Given the description of an element on the screen output the (x, y) to click on. 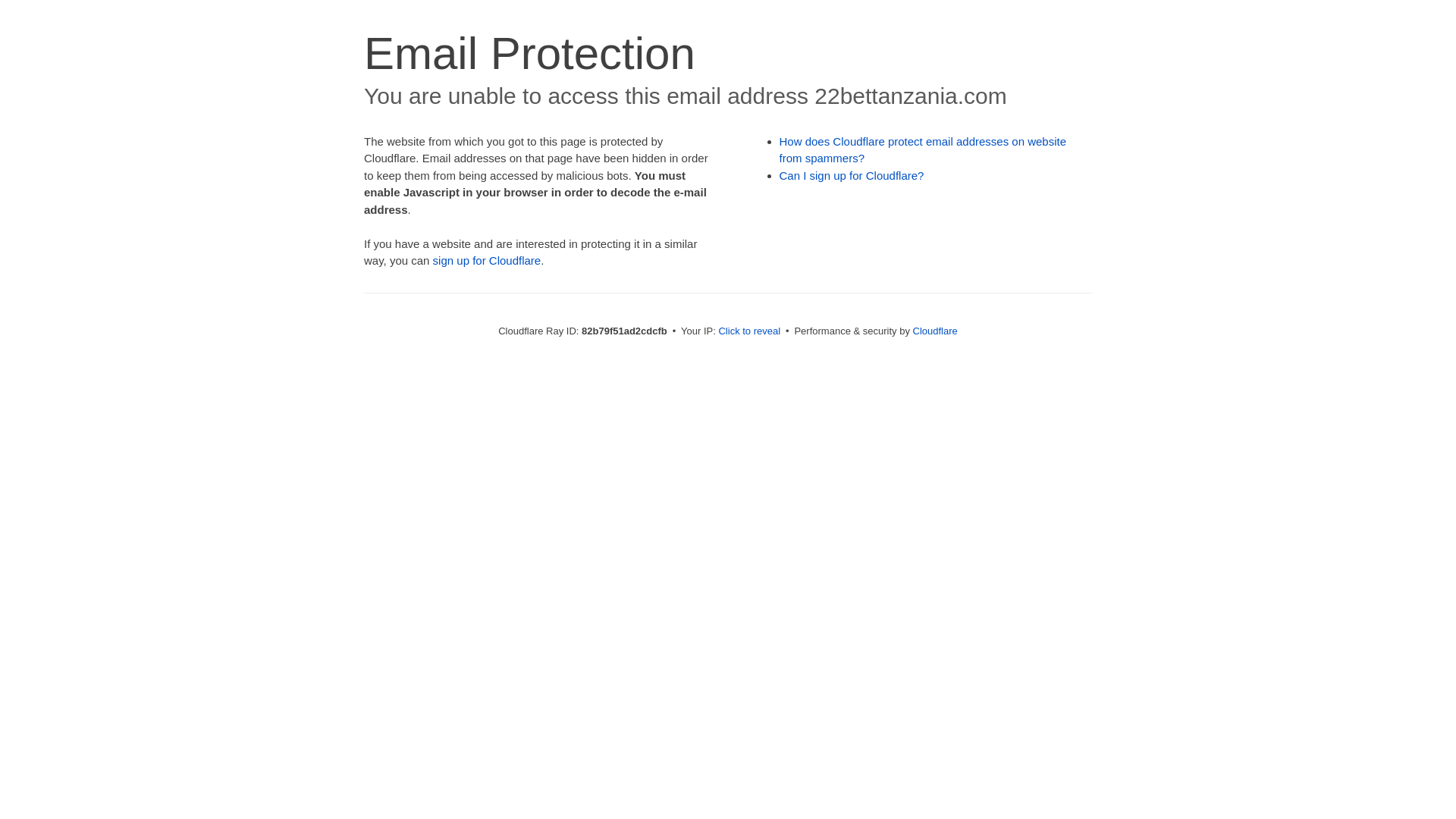
Cloudflare Element type: text (935, 330)
sign up for Cloudflare Element type: text (487, 260)
Click to reveal Element type: text (749, 330)
Can I sign up for Cloudflare? Element type: text (851, 175)
